Given the description of an element on the screen output the (x, y) to click on. 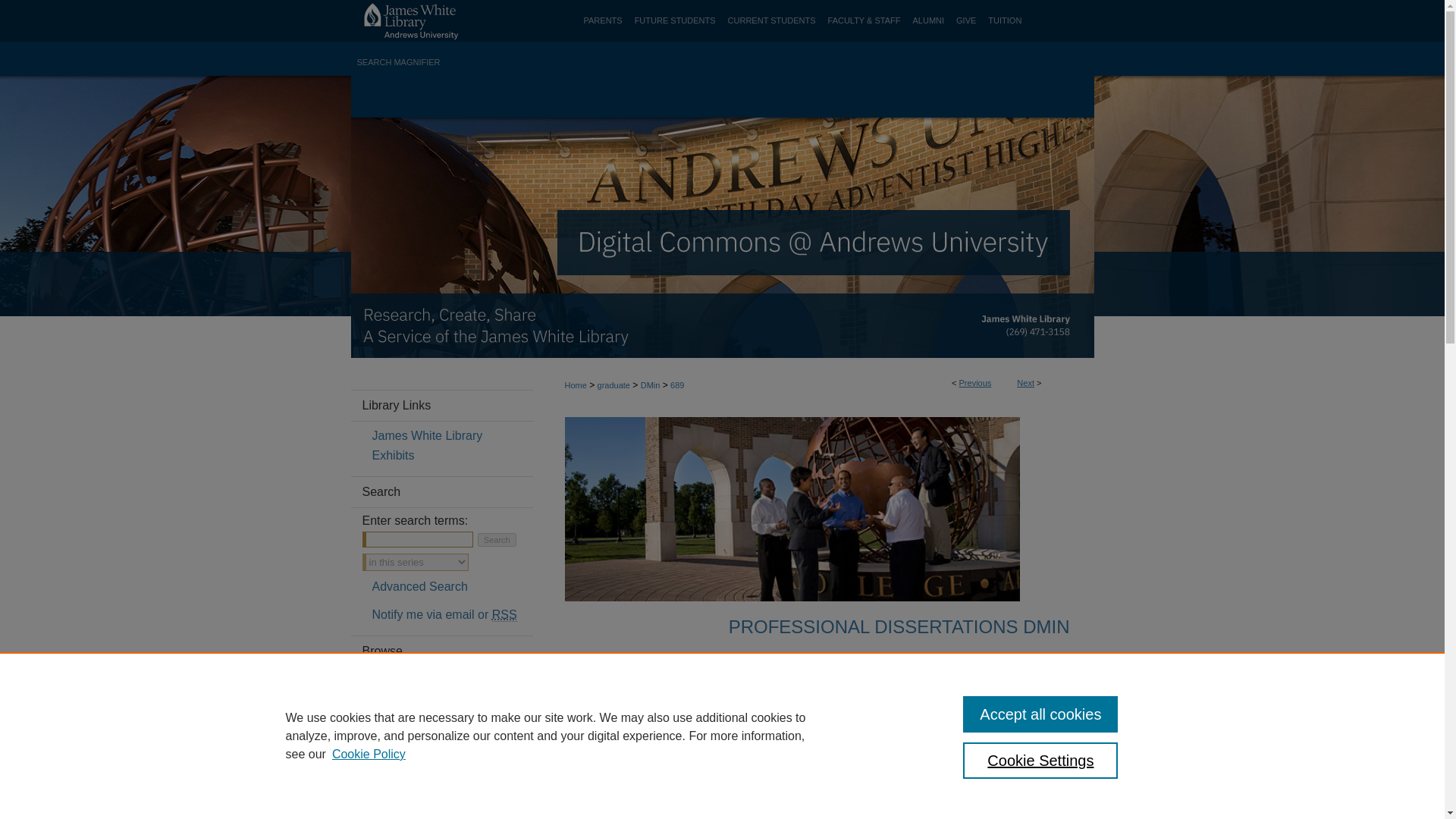
Next (1024, 382)
CURRENT STUDENTS (772, 20)
About (664, 101)
DMin (650, 384)
My Account (862, 101)
My Account (862, 101)
FUTURE STUDENTS (675, 20)
Browse by Collections (451, 681)
PARENTS (603, 20)
Search (496, 540)
SEARCH MAGNIFIER (397, 62)
689 (676, 384)
Search (496, 540)
graduate (613, 384)
ALUMNI (927, 20)
